Given the description of an element on the screen output the (x, y) to click on. 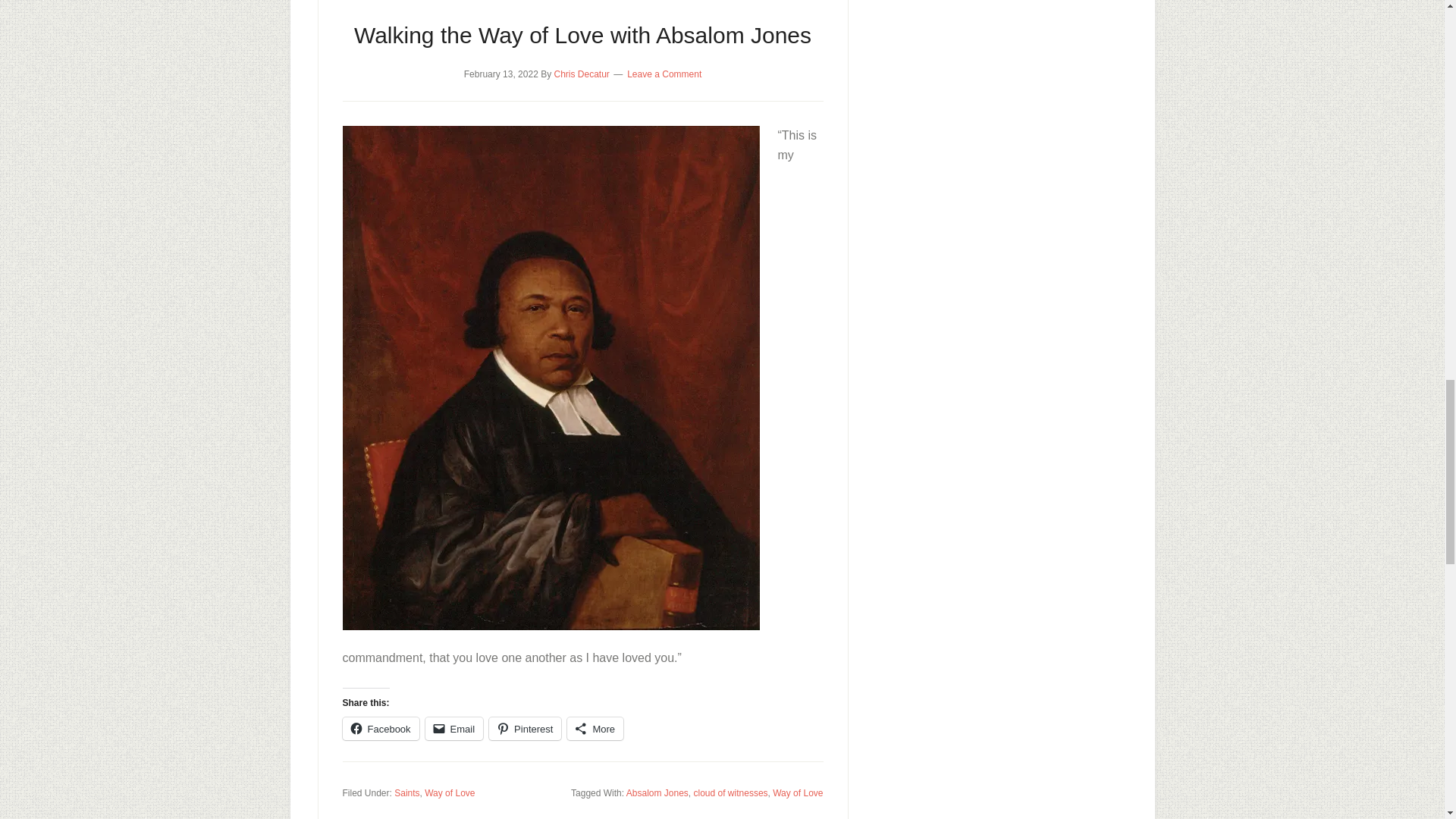
Click to share on Pinterest (524, 728)
Click to share on Facebook (380, 728)
Click to email a link to a friend (454, 728)
